Given the description of an element on the screen output the (x, y) to click on. 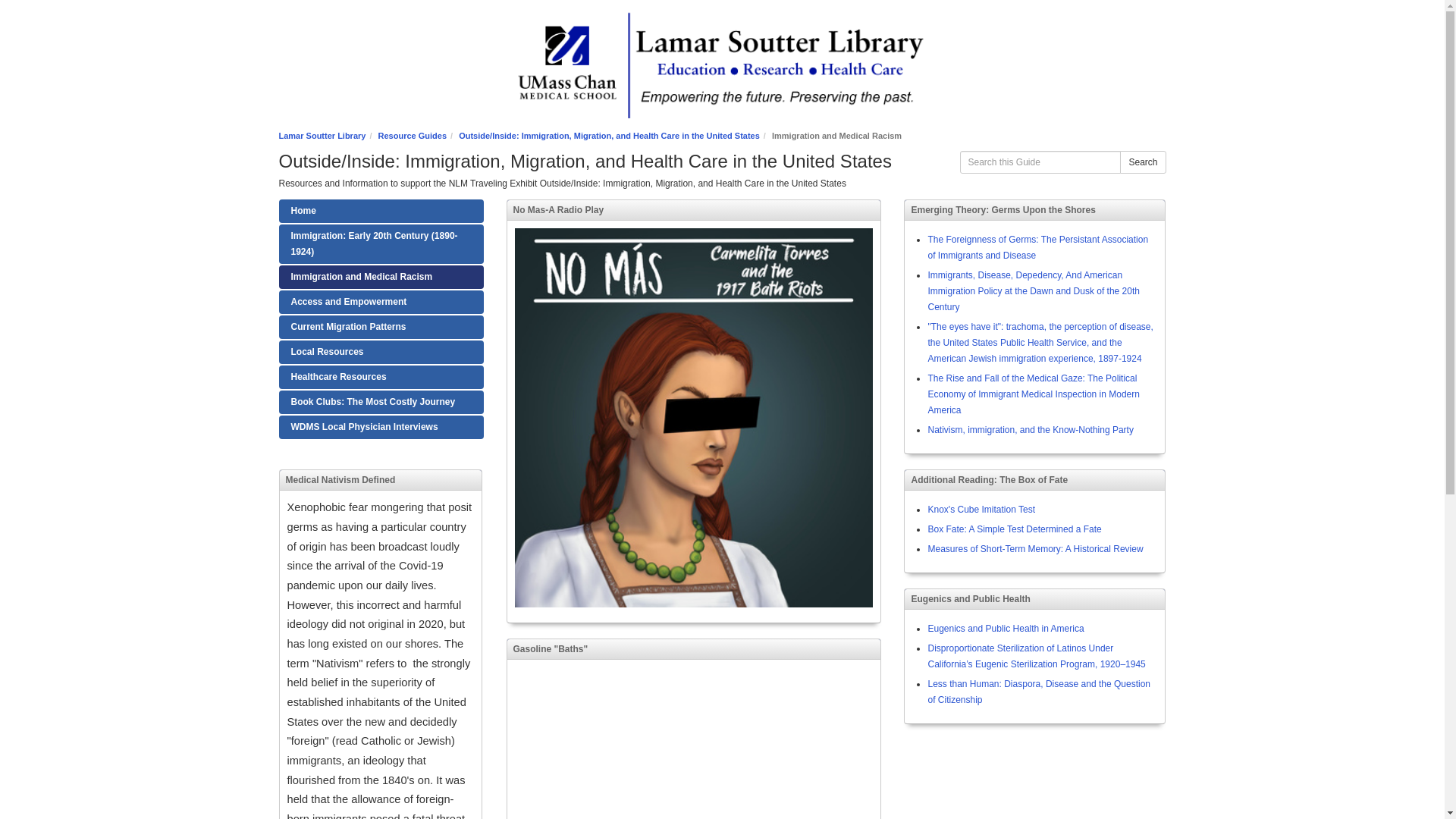
Eugenics and Public Health in America (1005, 628)
Immigration and Medical Racism (381, 277)
Box Fate: A Simple Test Determined a Fate (1013, 529)
YouTube video player (692, 743)
Measures of Short-Term Memory: A Historical Review (1034, 548)
WDMS Local Physician Interviews (381, 426)
Search (1142, 161)
Knox's Cube Imitation Test (980, 509)
Nativism, immigration, and the Know-Nothing Party (1029, 429)
Home (381, 210)
Resource Guides (412, 135)
